Given the description of an element on the screen output the (x, y) to click on. 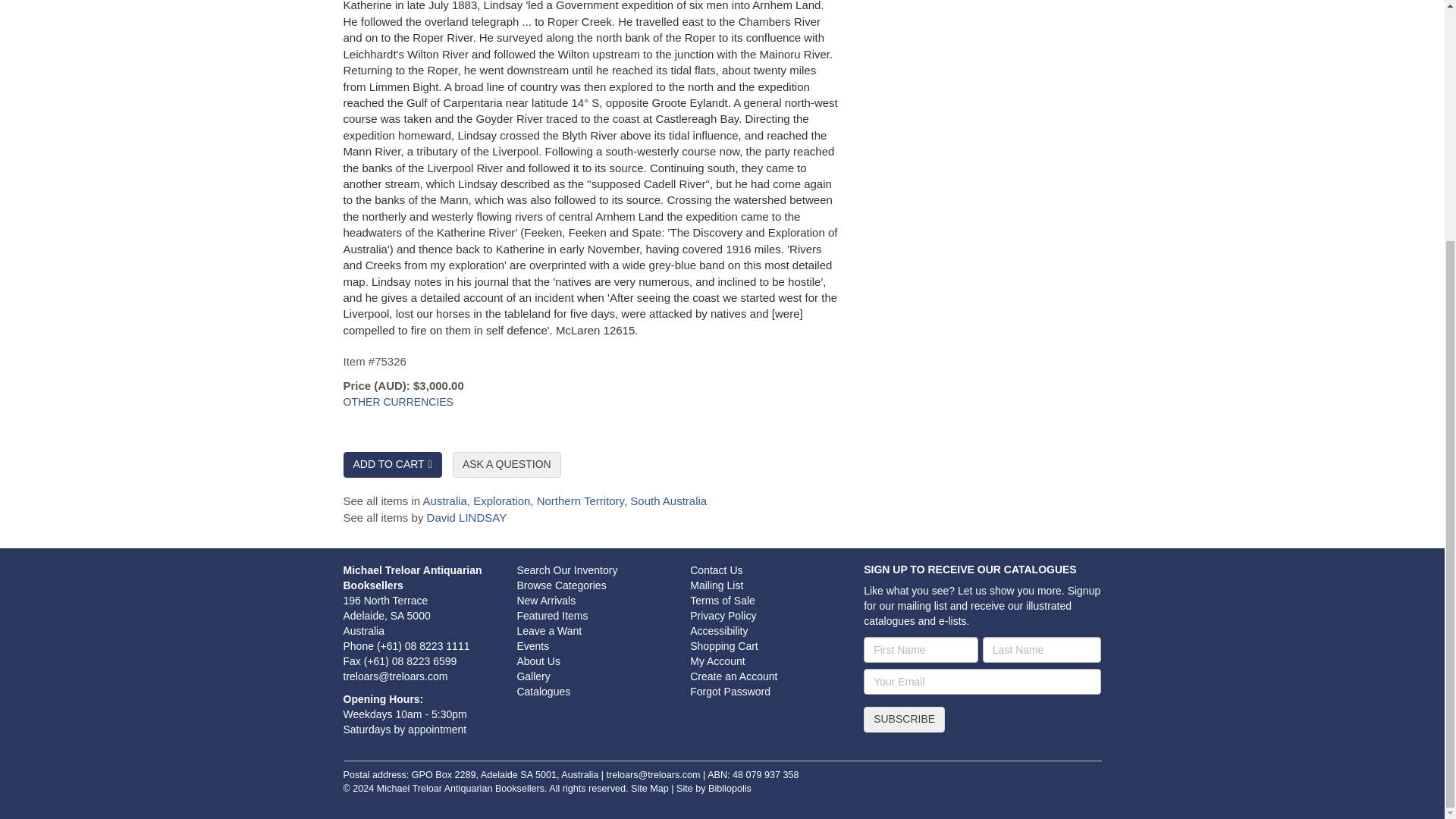
Leave a Want (548, 630)
About Us (538, 661)
South Australia (668, 500)
Northern Territory (580, 500)
Site by Bibliopolis (714, 787)
ADD TO CART (391, 464)
Gallery (533, 676)
Featured Items (552, 615)
Exploration (501, 500)
David LINDSAY (466, 517)
